Given the description of an element on the screen output the (x, y) to click on. 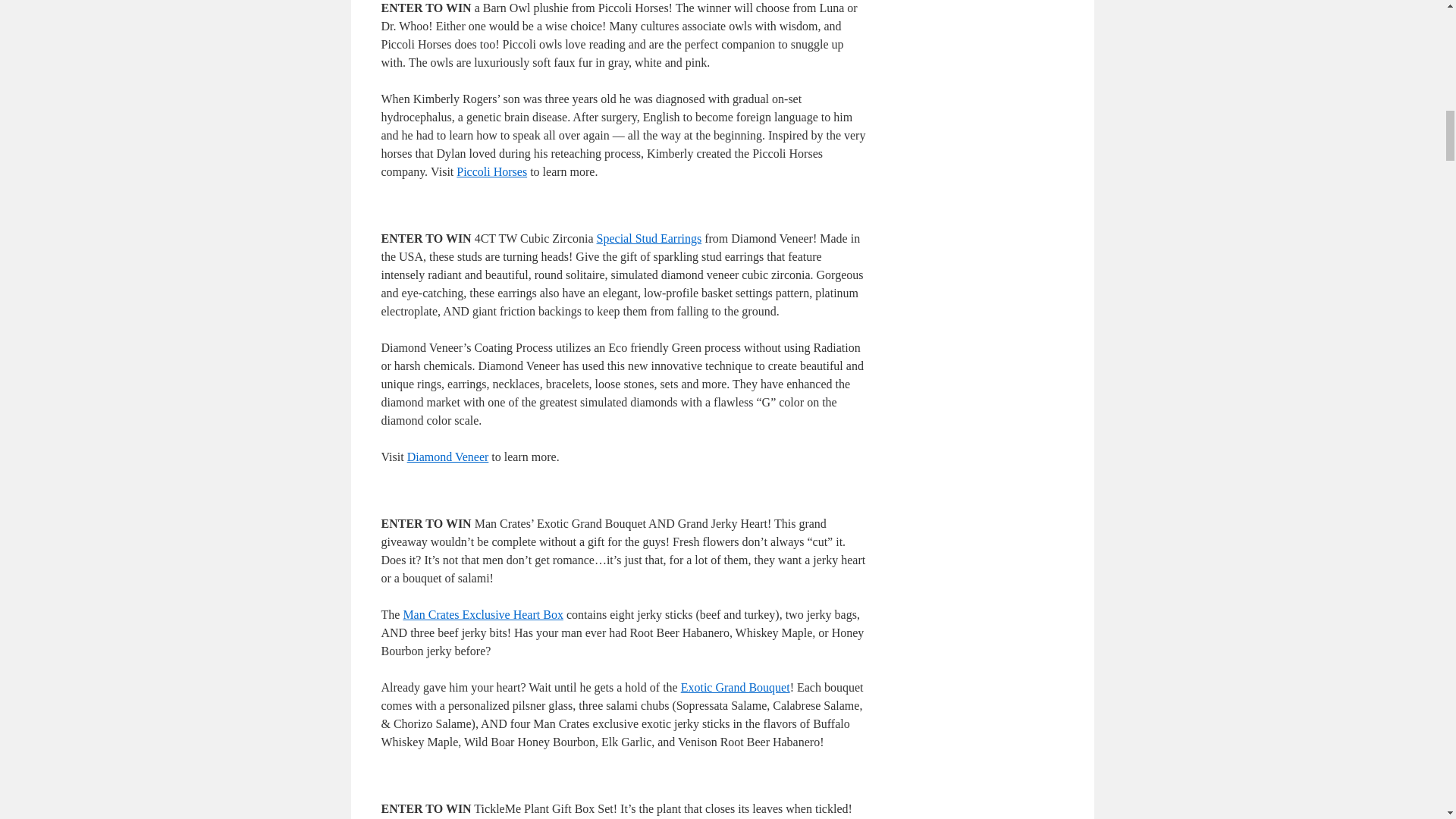
Special Stud Earrings (648, 237)
Piccoli Horses (492, 171)
Diamond Veneer (448, 456)
Exotic Grand Bouquet (735, 686)
Man Crates Exclusive Heart Box (483, 614)
